Given the description of an element on the screen output the (x, y) to click on. 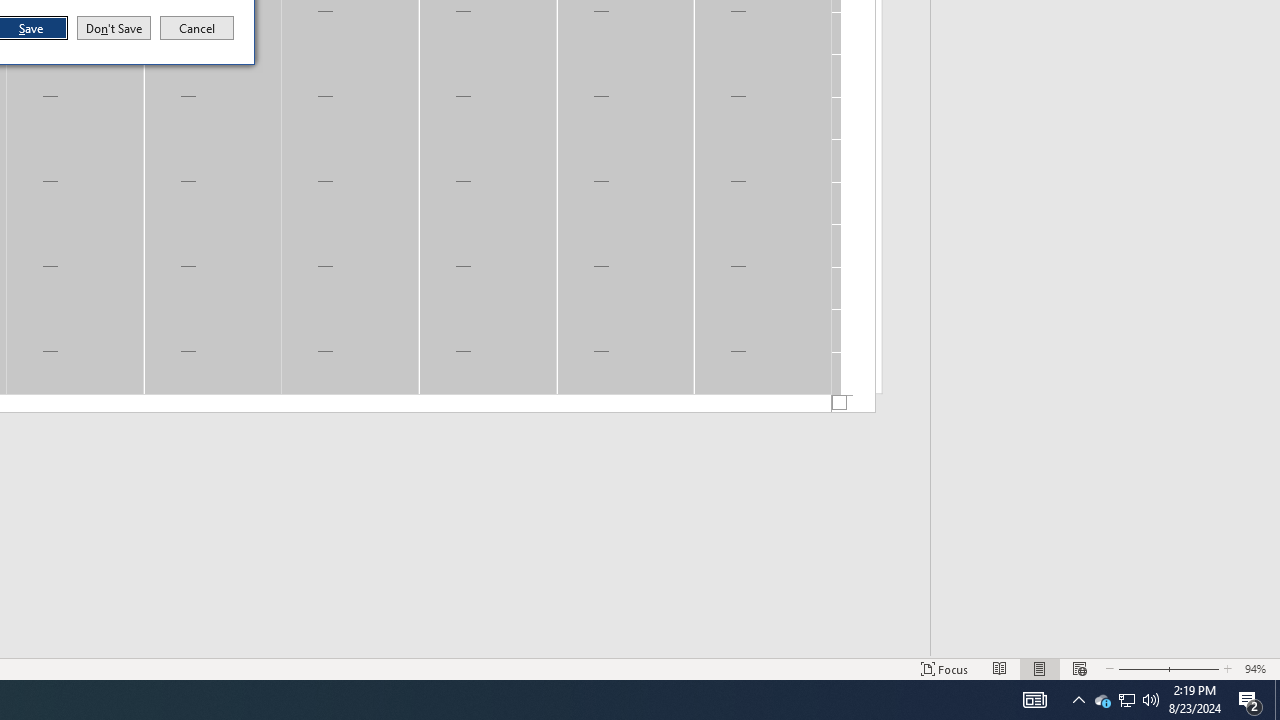
Show desktop (1277, 699)
Don't Save (113, 27)
User Promoted Notification Area (1102, 699)
Notification Chevron (1126, 699)
Cancel (1078, 699)
